Given the description of an element on the screen output the (x, y) to click on. 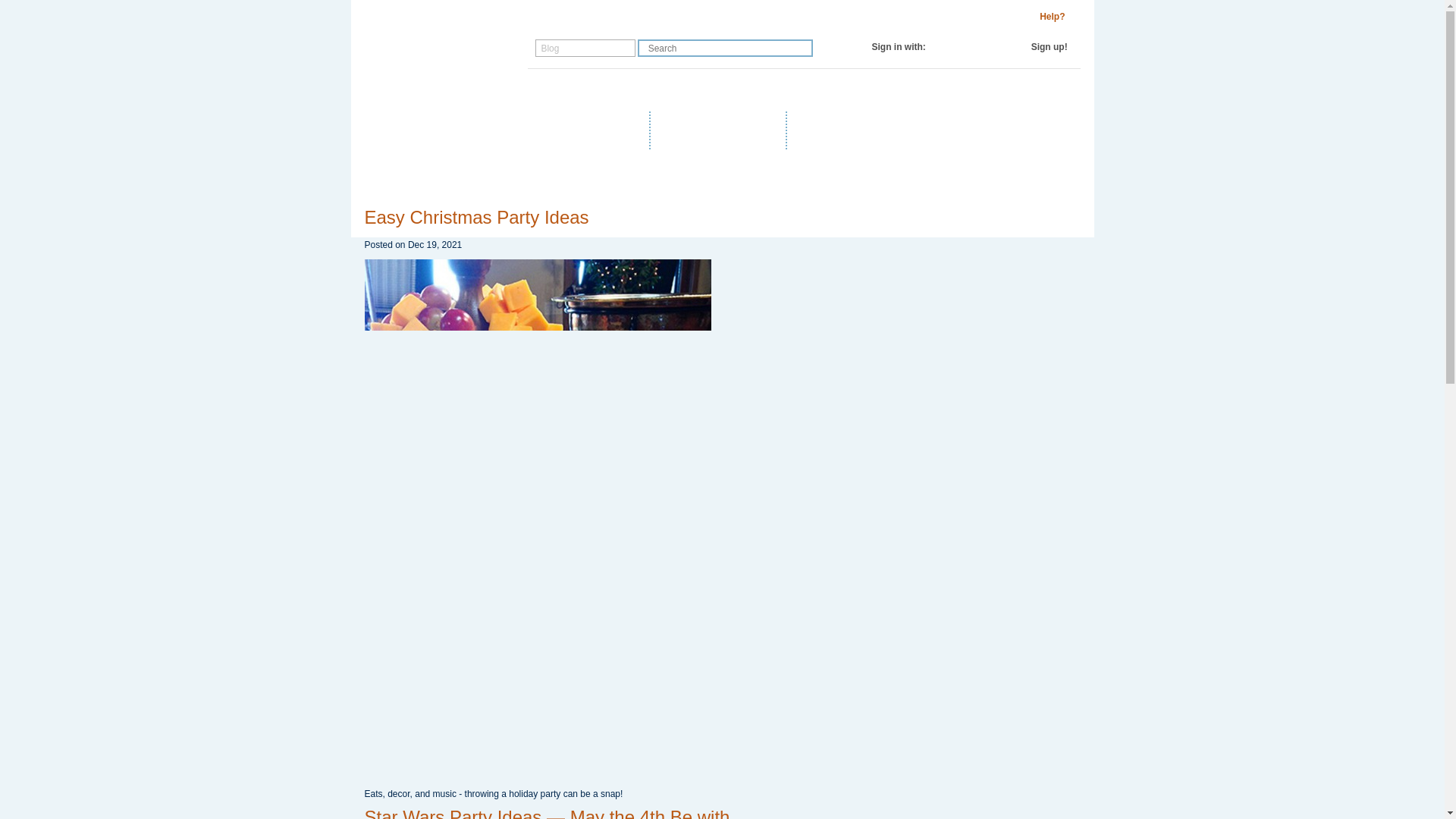
Shop (550, 90)
Sign in with Twitter account (972, 46)
Sign up! (1048, 46)
My Account (727, 90)
Sign in with Gmail account (986, 46)
Help? (1052, 16)
Sign in with Facebook account (957, 46)
Find (801, 47)
Upload Your Crafts (720, 129)
Blog (595, 90)
